Given the description of an element on the screen output the (x, y) to click on. 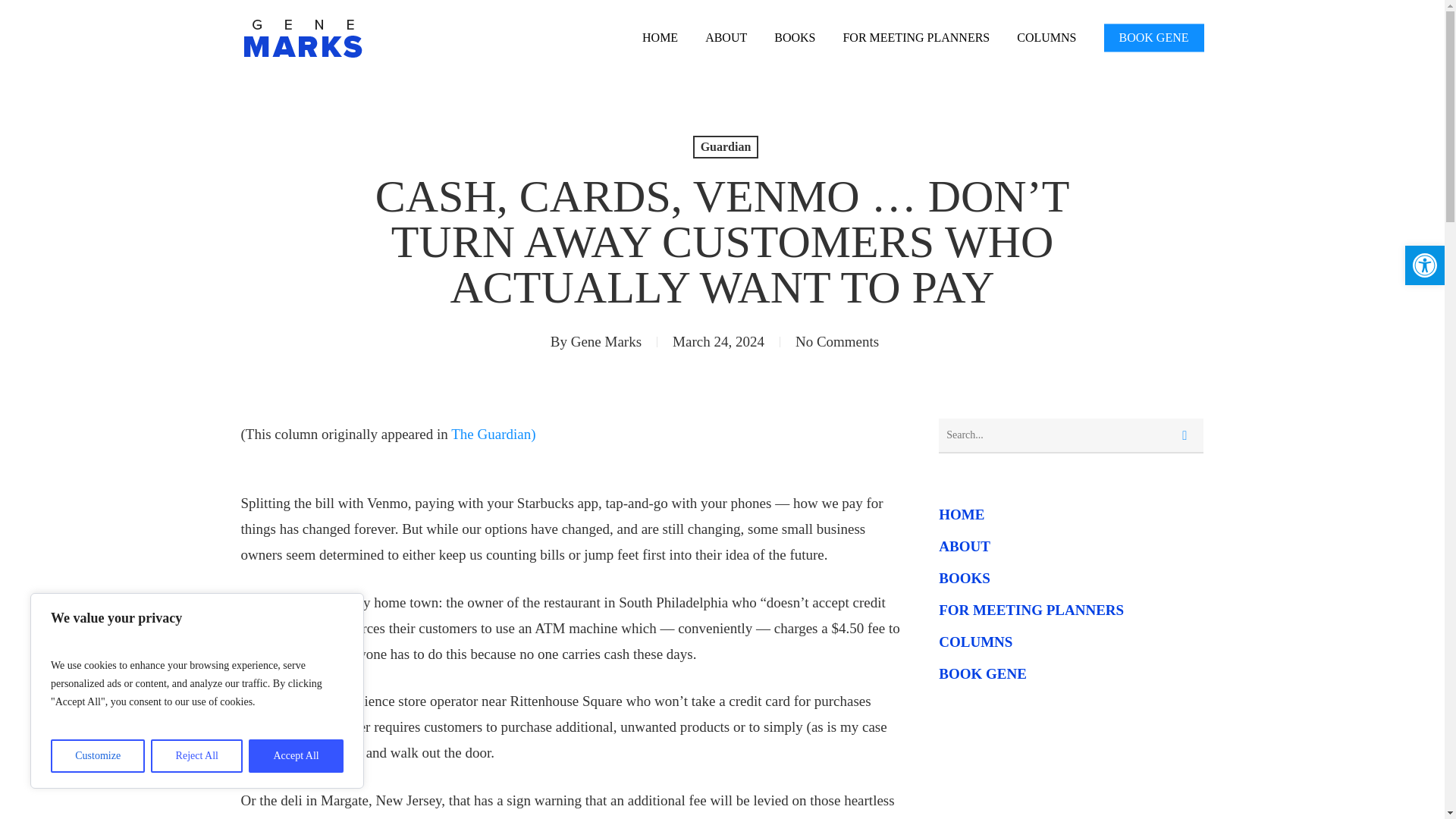
No Comments (836, 341)
Reject All (197, 756)
COLUMNS (1045, 36)
Accessibility Tools (1424, 265)
Accessibility Tools (1424, 265)
HOME (660, 36)
BOOK GENE (1153, 36)
Gene Marks (606, 341)
Accept All (295, 756)
Search for: (1071, 435)
ABOUT (1424, 265)
BOOKS (725, 36)
Posts by Gene Marks (794, 36)
Guardian (606, 341)
